Given the description of an element on the screen output the (x, y) to click on. 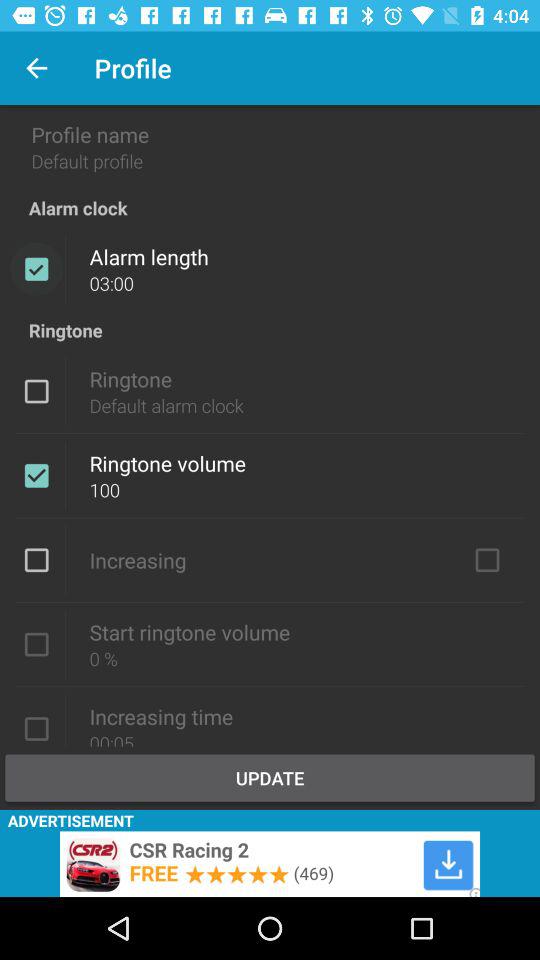
toggle checkbox (36, 644)
